Given the description of an element on the screen output the (x, y) to click on. 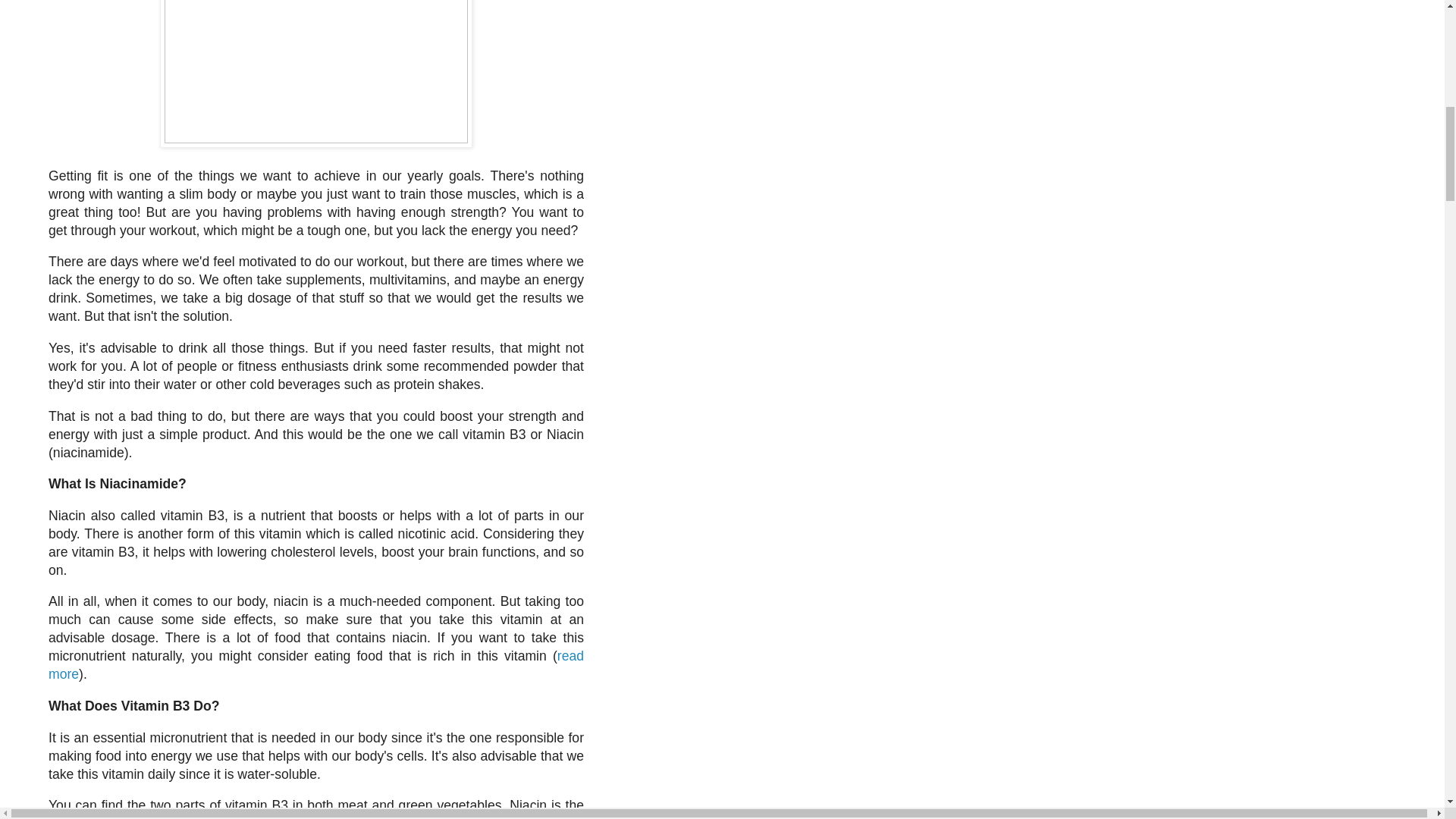
read more (315, 664)
Niacinamide (138, 483)
